Given the description of an element on the screen output the (x, y) to click on. 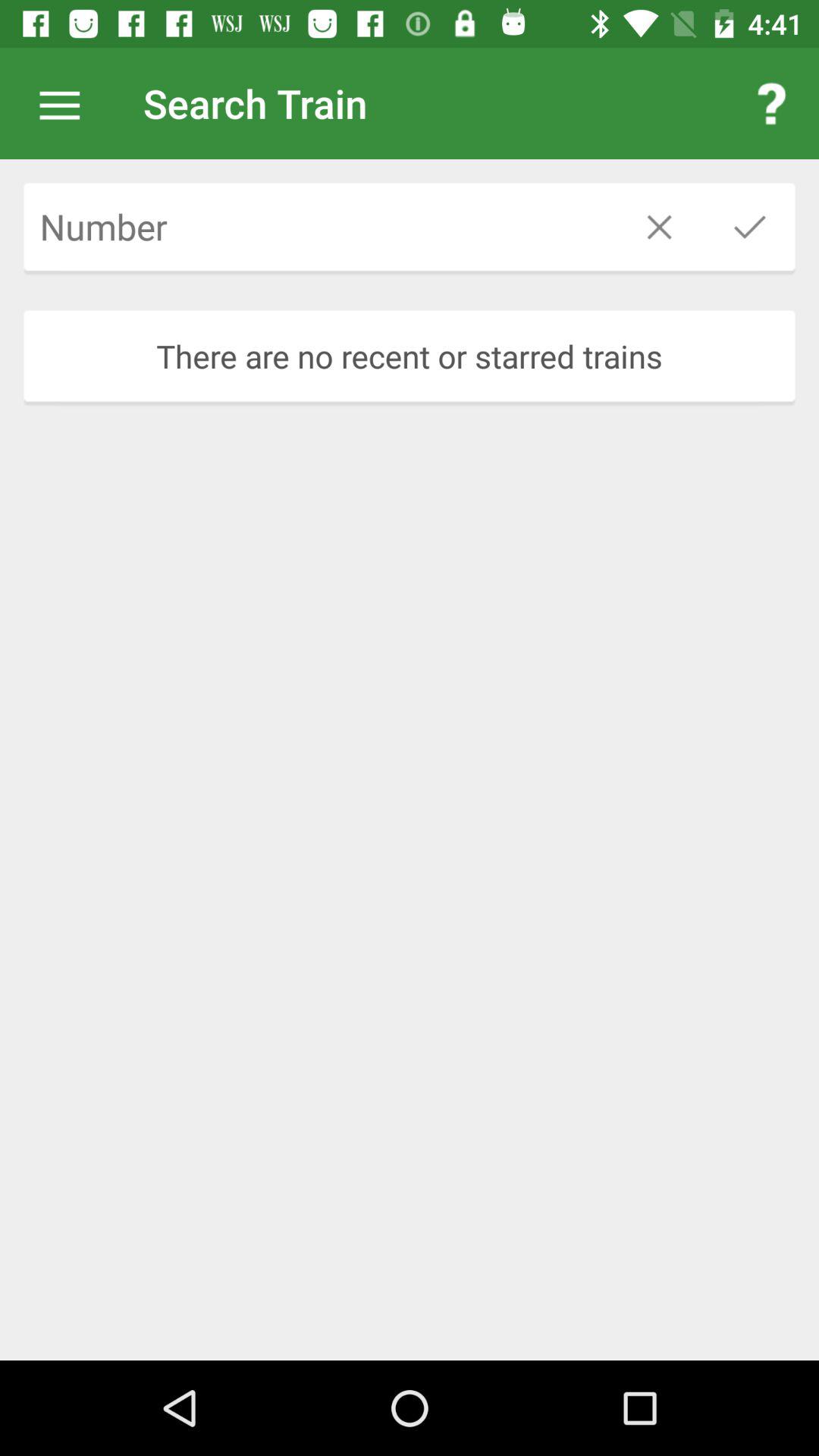
select icon above the there are no (409, 222)
